Given the description of an element on the screen output the (x, y) to click on. 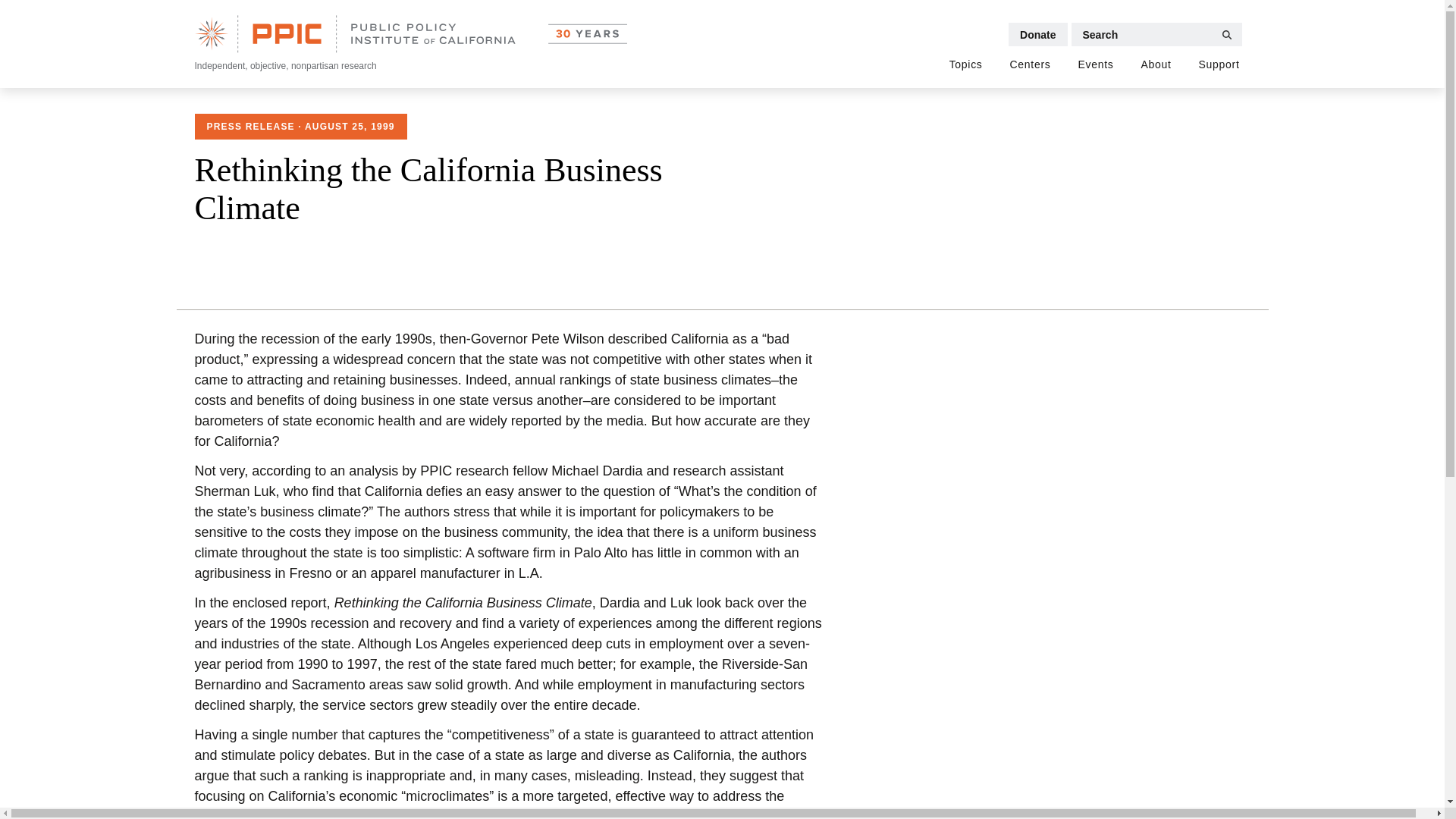
Events (1094, 65)
Centers (1030, 65)
About (1155, 65)
Topics (965, 65)
Donate (1038, 33)
Independent, objective, nonpartisan research (409, 43)
